Given the description of an element on the screen output the (x, y) to click on. 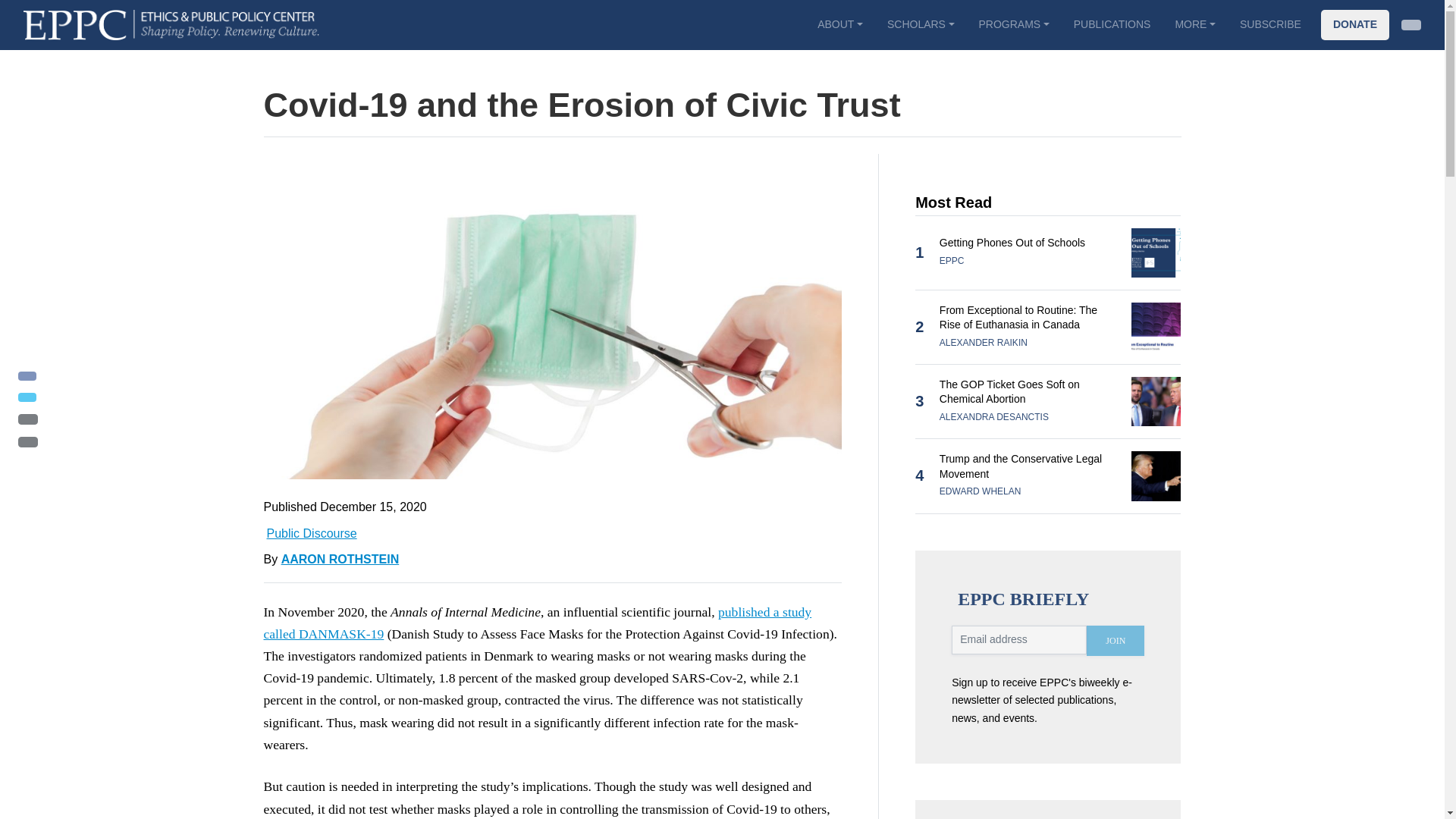
SCHOLARS (920, 24)
JOIN (1115, 640)
ABOUT (840, 24)
